Given the description of an element on the screen output the (x, y) to click on. 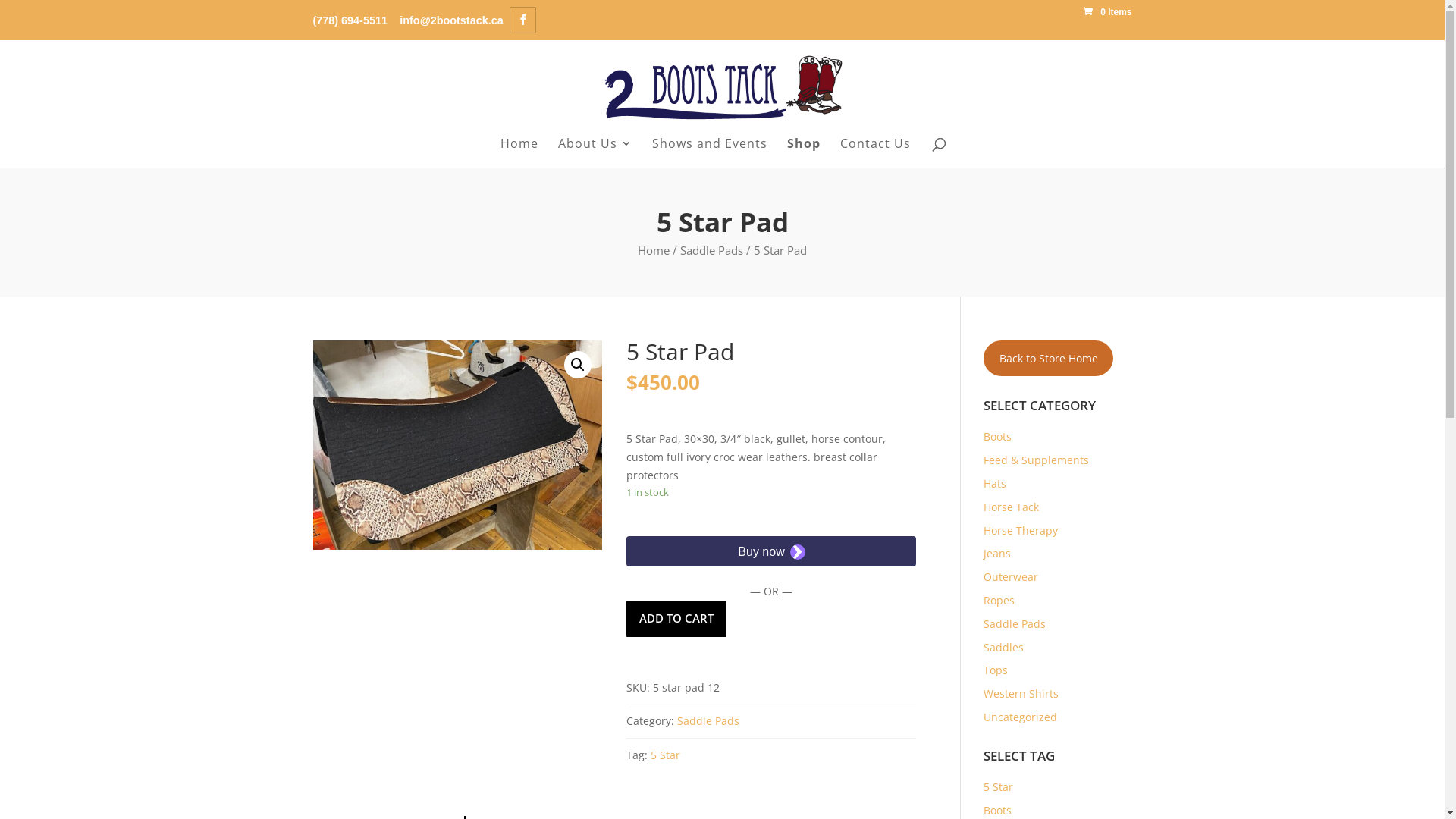
Boots Element type: text (997, 810)
Horse Therapy Element type: text (1020, 530)
Shows and Events Element type: text (709, 152)
Saddle Pads Element type: text (708, 720)
Outerwear Element type: text (1010, 576)
Jeans Element type: text (996, 553)
Horse Tack Element type: text (1010, 506)
Saddle Pads Element type: text (1014, 623)
Home Element type: text (519, 152)
Saddle Pads Element type: text (711, 249)
About Us Element type: text (595, 152)
Hats Element type: text (994, 483)
Secure payment button frame Element type: hover (771, 551)
Ropes Element type: text (998, 600)
Uncategorized Element type: text (1020, 716)
Boots Element type: text (997, 436)
Western Shirts Element type: text (1020, 693)
0 Items Element type: text (1107, 11)
5 Star Element type: text (665, 754)
Back to Store Home Element type: text (1048, 357)
5 Star Element type: text (998, 786)
Contact Us Element type: text (875, 152)
ADD TO CART Element type: text (676, 618)
Home Element type: text (653, 249)
info@2bootstack.ca Element type: text (450, 20)
Saddles Element type: text (1003, 647)
Feed & Supplements Element type: text (1035, 459)
Shop Element type: text (803, 152)
Tops Element type: text (995, 669)
IMG_8491 Element type: hover (457, 444)
